Given the description of an element on the screen output the (x, y) to click on. 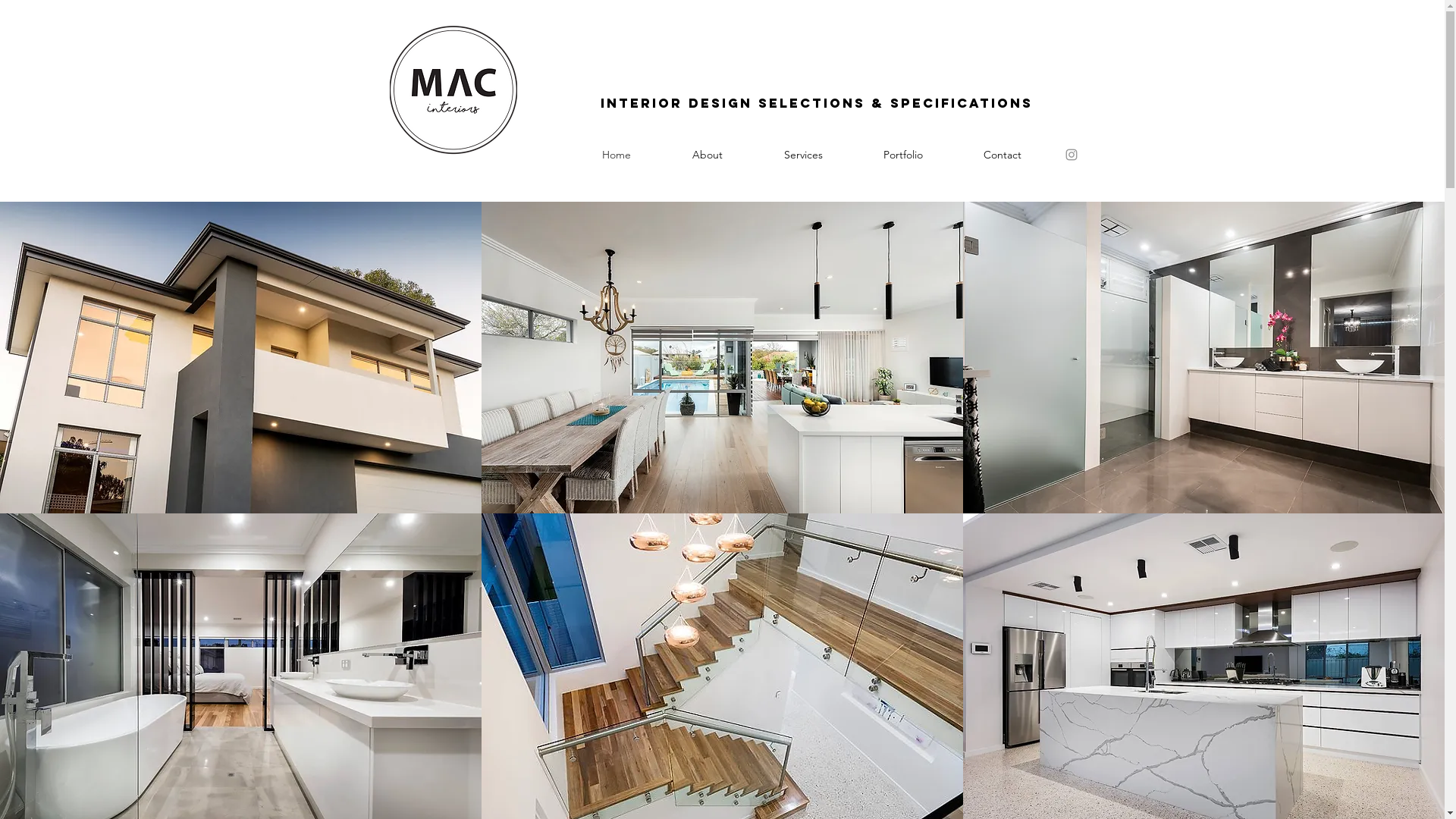
Home Element type: text (616, 154)
Portfolio Element type: text (902, 154)
Services Element type: text (803, 154)
Contact Element type: text (1001, 154)
About Element type: text (707, 154)
